Given the description of an element on the screen output the (x, y) to click on. 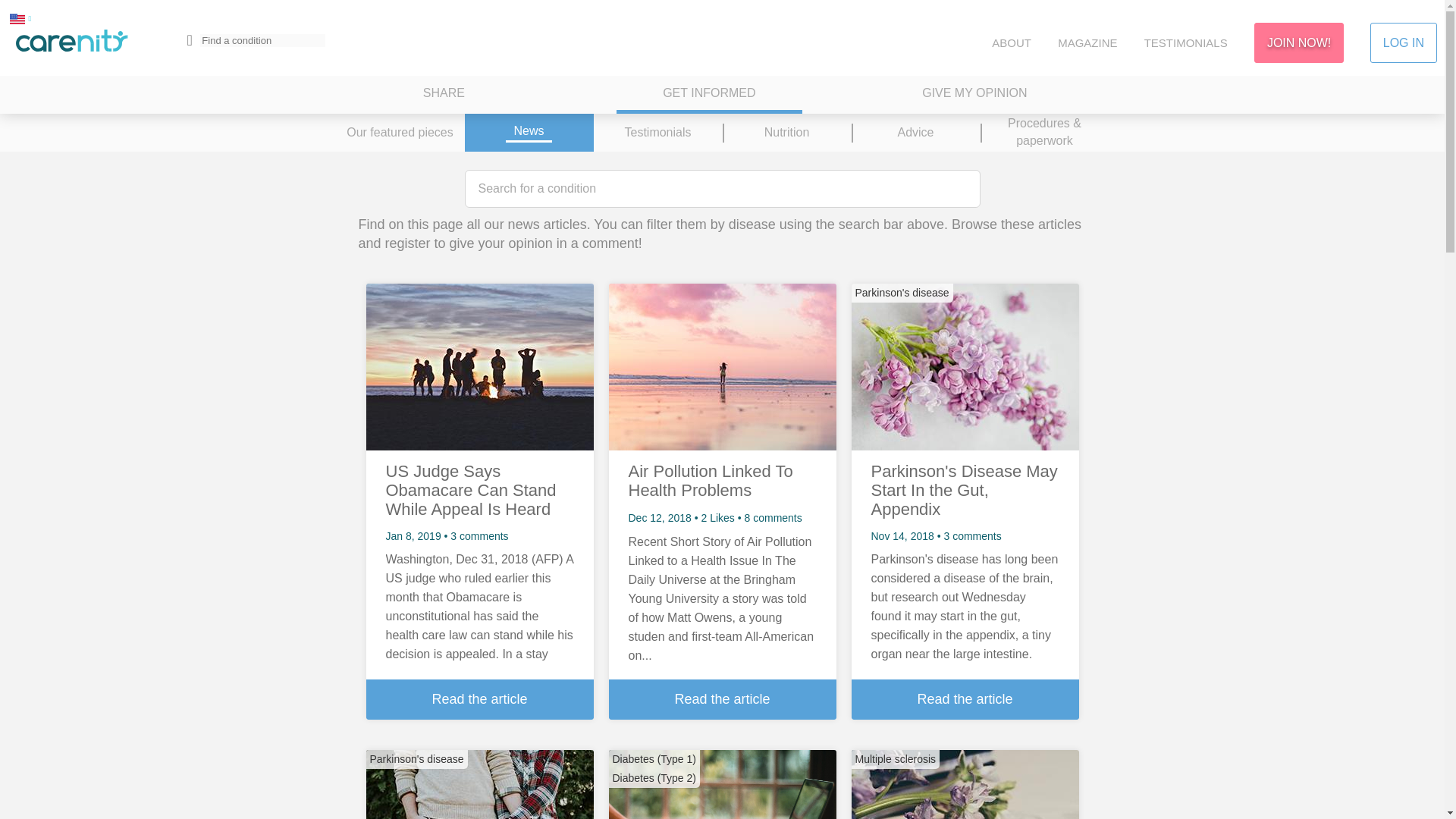
Advice (914, 132)
LOG IN (1403, 42)
USA (17, 18)
MAGAZINE (1087, 42)
SHARE (443, 94)
ABOUT (1010, 42)
GET INFORMED (708, 94)
News (528, 132)
JOIN NOW! (1298, 42)
